Given the description of an element on the screen output the (x, y) to click on. 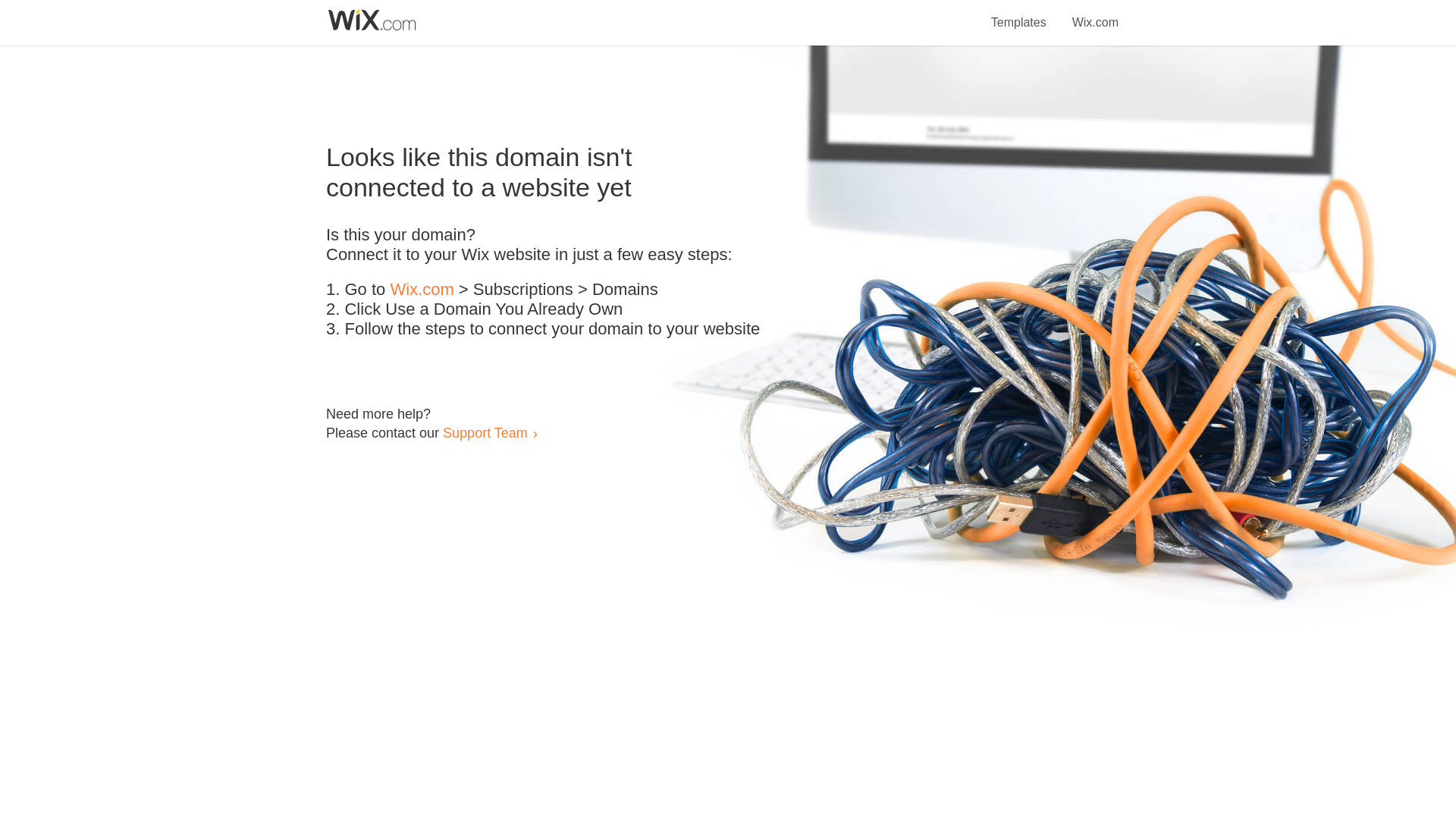
Templates (1018, 14)
Wix.com (1095, 14)
Support Team (484, 432)
Wix.com (421, 289)
